Given the description of an element on the screen output the (x, y) to click on. 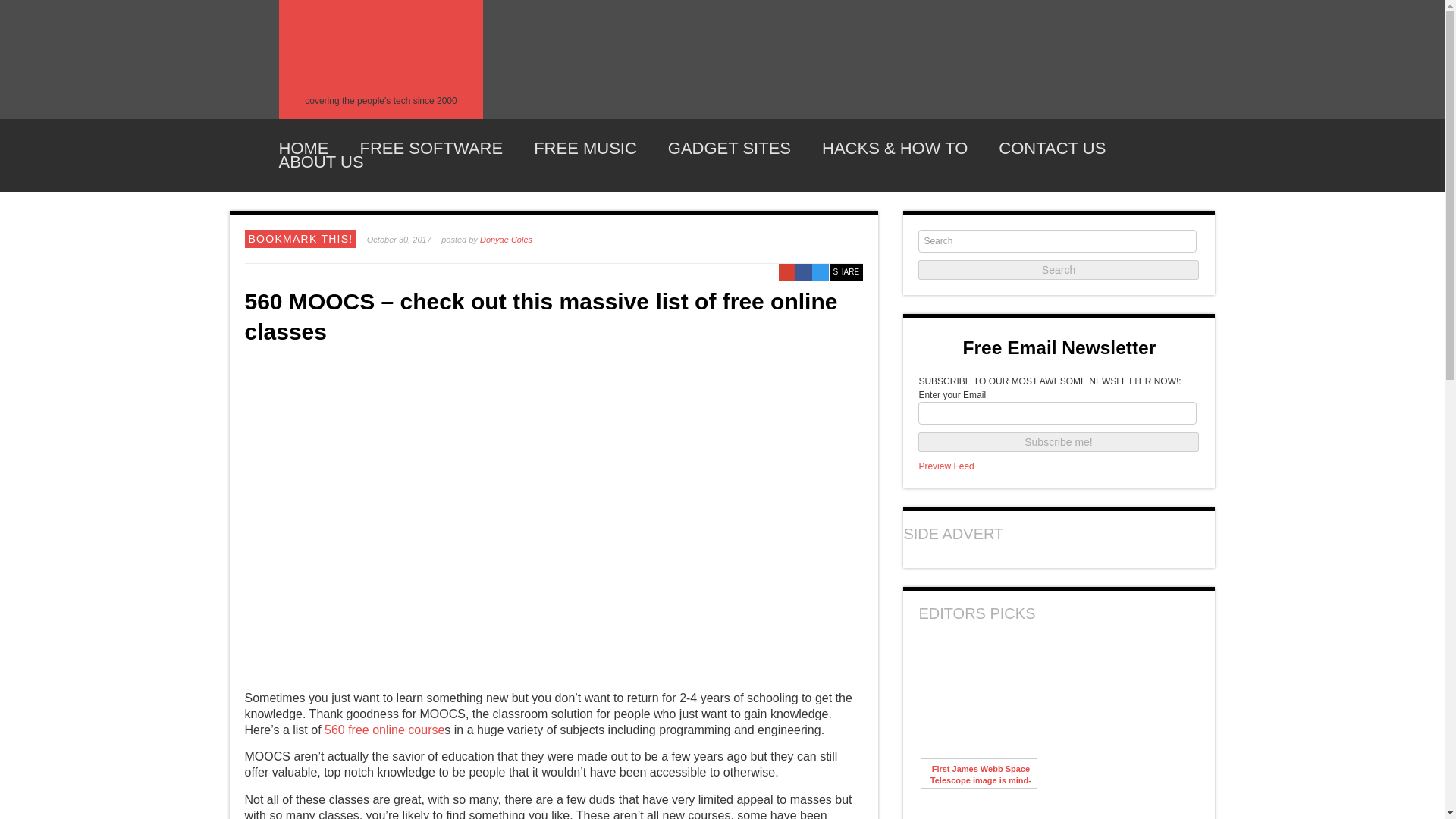
GADGET SITES (729, 148)
View all posts in Bookmark This! (300, 238)
Posts by Donyae Coles (506, 239)
Preview Feed (946, 466)
Subscribe me! (1058, 442)
Subscribe me! (1058, 442)
Donyae Coles (506, 239)
SHARE (846, 271)
560 free online course (384, 729)
ABOUT US (321, 161)
